Given the description of an element on the screen output the (x, y) to click on. 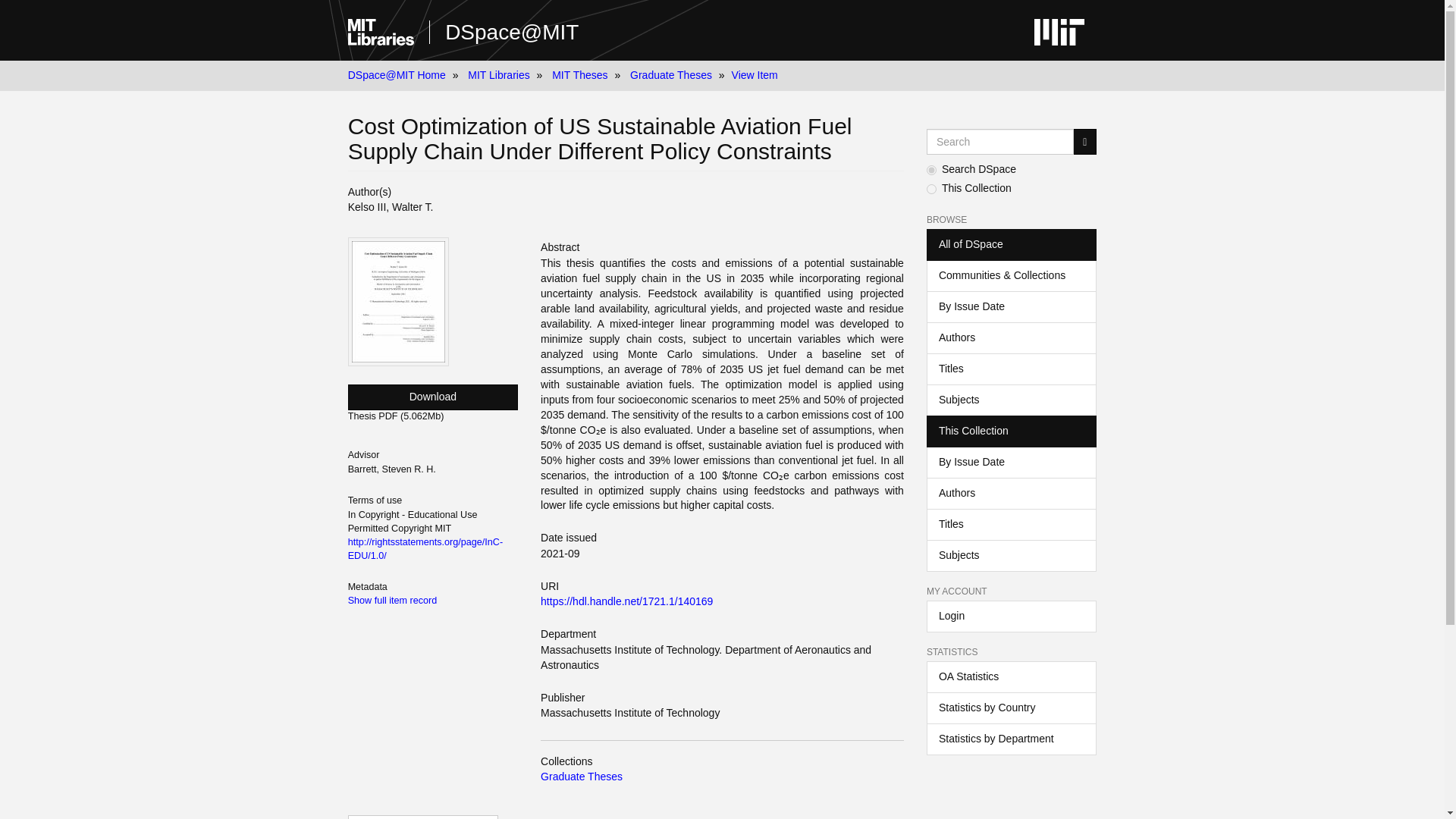
Graduate Theses (581, 776)
By Issue Date (1011, 306)
Statistics by Department (1011, 739)
Download (432, 397)
Graduate Theses (670, 74)
Show full item record (392, 600)
Statistics by Country (1011, 707)
All of DSpace (1011, 245)
By Issue Date (1011, 462)
MIT Libraries (498, 74)
